Given the description of an element on the screen output the (x, y) to click on. 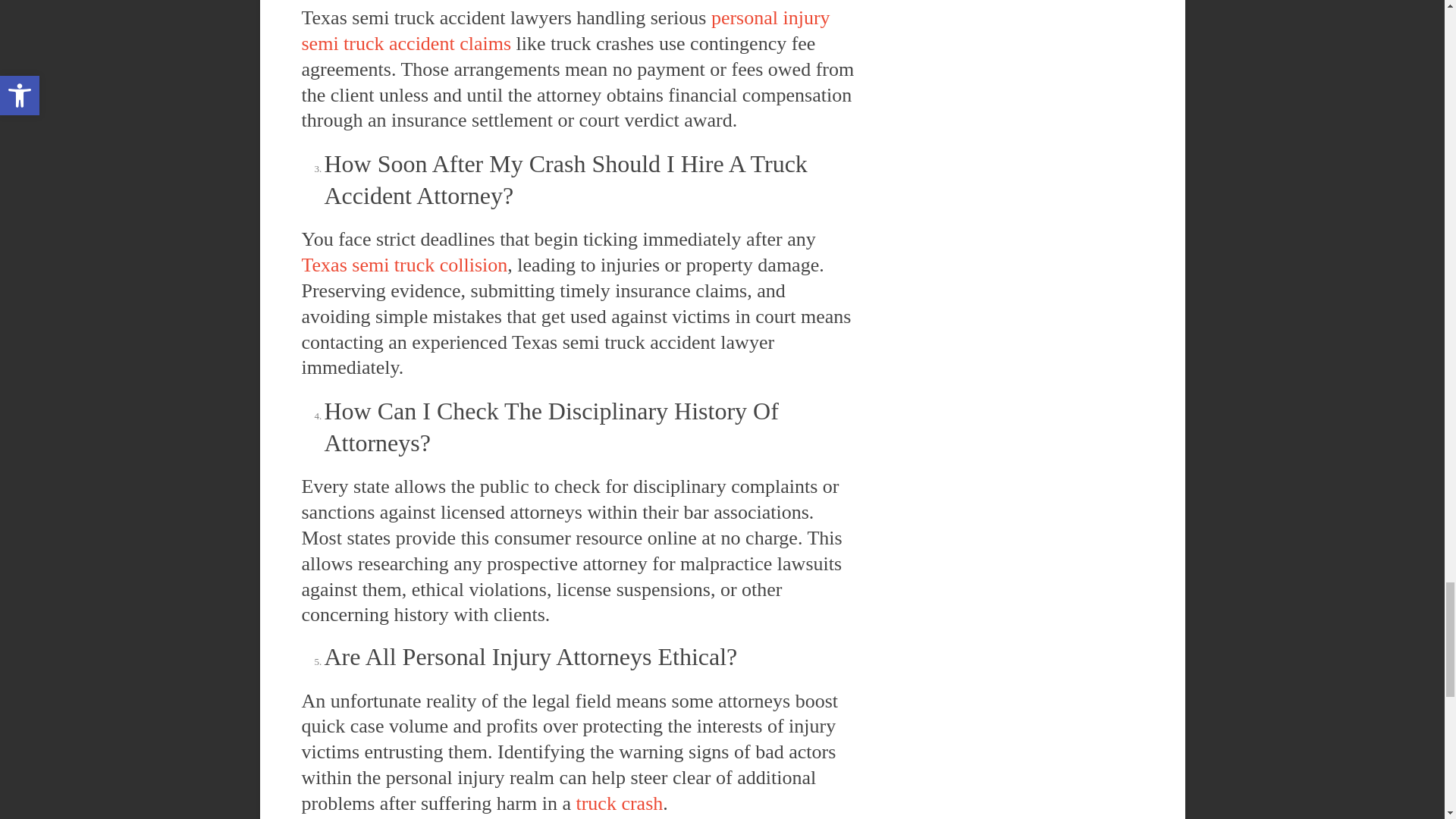
Texas semi truck collision (404, 264)
personal injury semi truck accident claims (565, 30)
truck crash (618, 803)
